Given the description of an element on the screen output the (x, y) to click on. 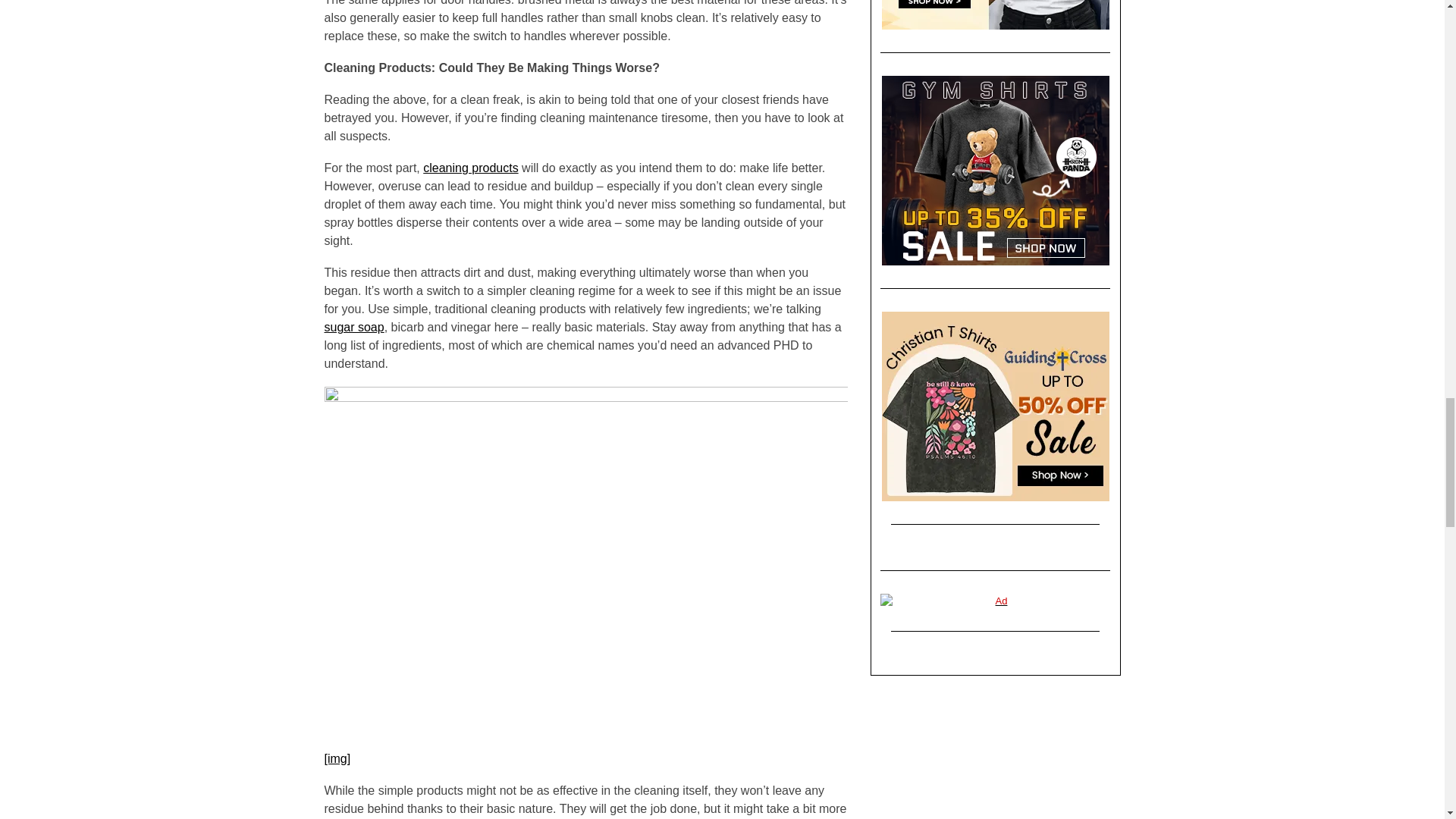
teacher shirt (994, 14)
gym shirts (994, 170)
christian t shirts (994, 406)
